Given the description of an element on the screen output the (x, y) to click on. 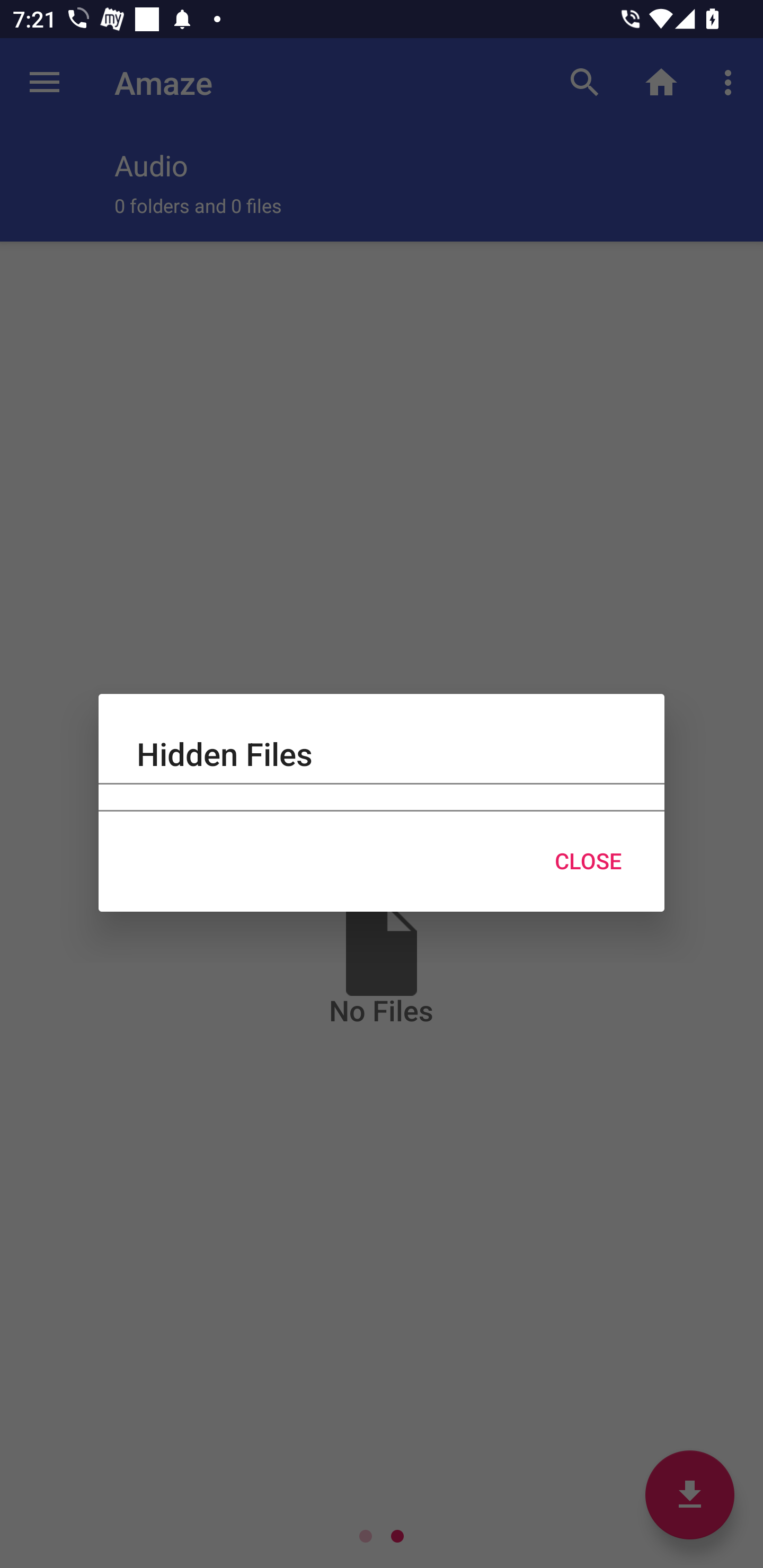
CLOSE (588, 860)
